Given the description of an element on the screen output the (x, y) to click on. 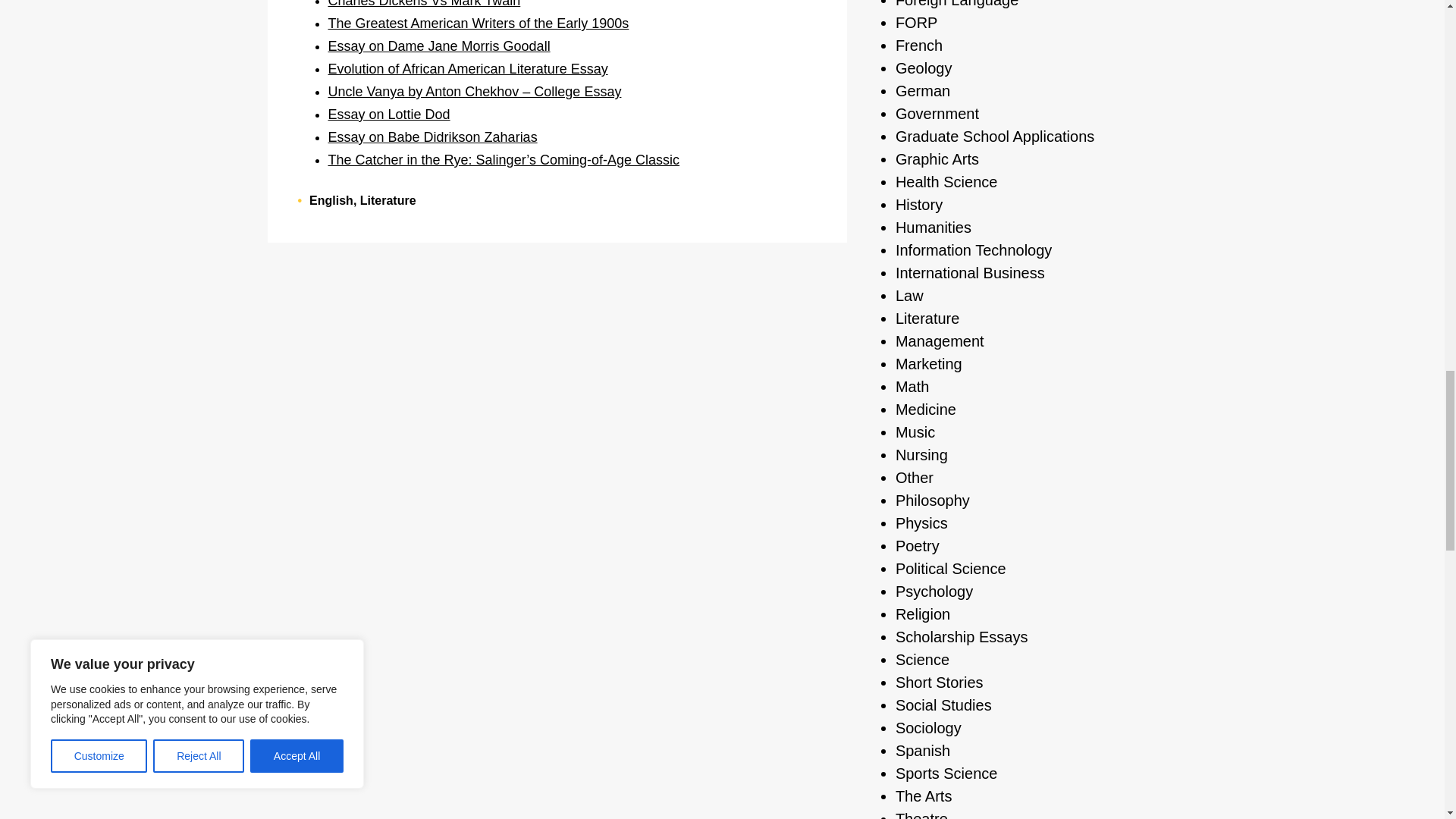
The Greatest American Writers of the Early 1900s (477, 23)
Essay on Babe Didrikson Zaharias (432, 136)
Essay on Dame Jane Morris Goodall (438, 46)
Literature (387, 200)
Essay on Lottie Dod (388, 114)
Charles Dickens Vs Mark Twain (423, 4)
English (330, 200)
Evolution of African American Literature Essay (467, 68)
